Given the description of an element on the screen output the (x, y) to click on. 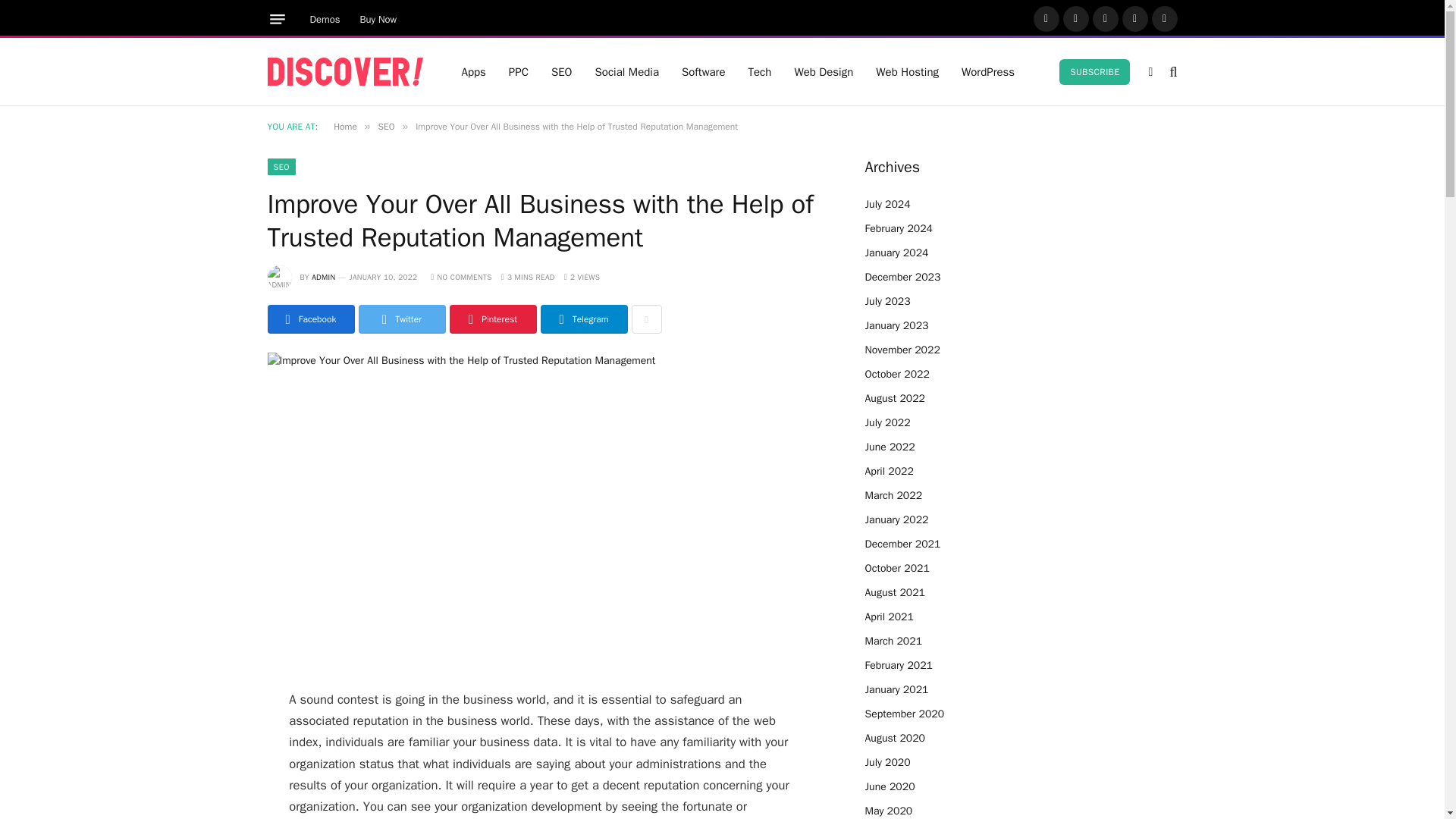
SEO (280, 166)
2 Article Views (581, 276)
Tech (759, 71)
Share on Facebook (309, 318)
Facebook (1046, 18)
SEO (385, 126)
Demos (324, 19)
Apps (473, 71)
Pinterest (1135, 18)
SUBSCRIBE (1094, 71)
Software (702, 71)
SEO (561, 71)
Search (1171, 71)
Vimeo (1164, 18)
Web Design (823, 71)
